Given the description of an element on the screen output the (x, y) to click on. 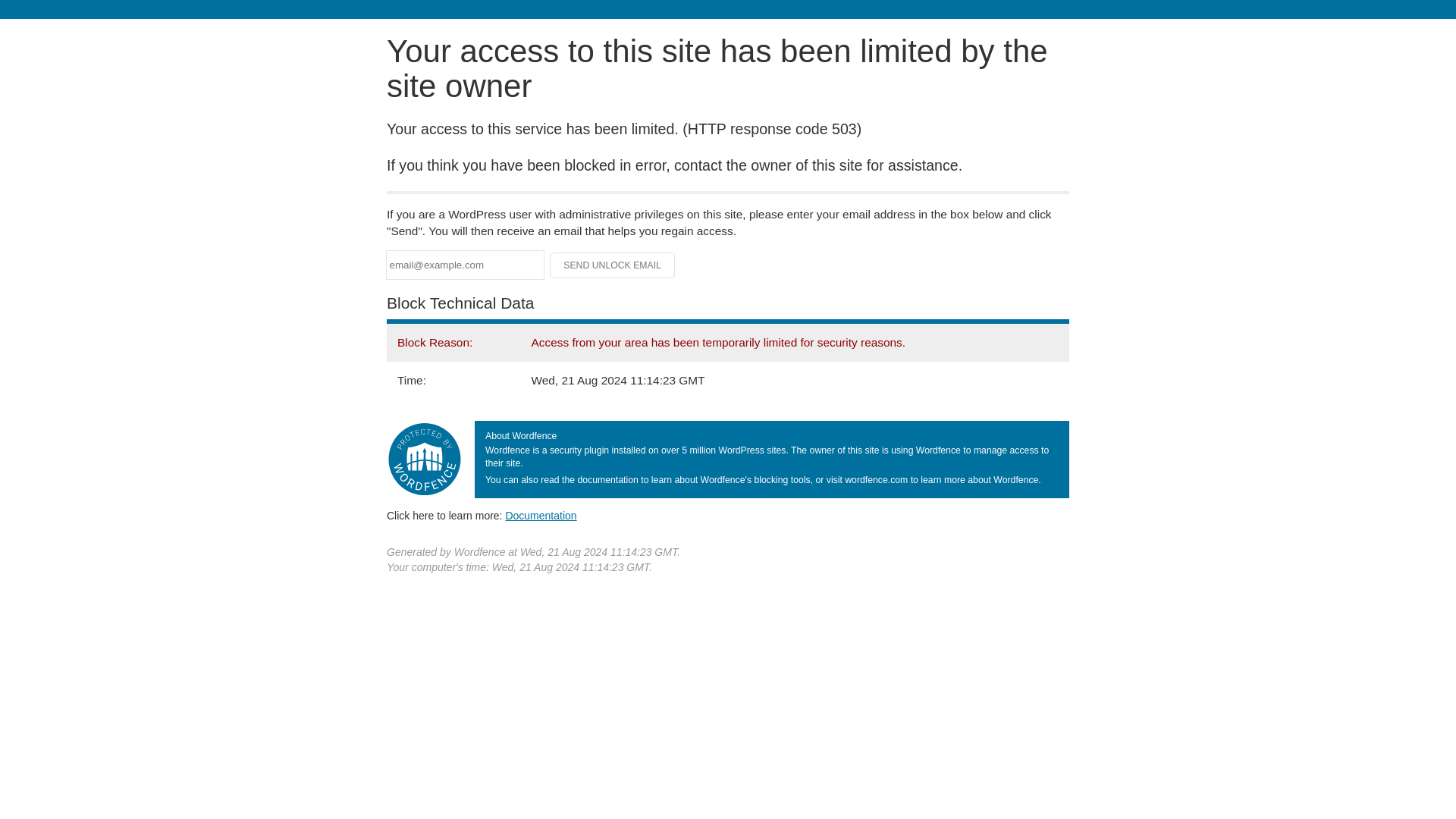
Documentation (540, 515)
Send Unlock Email (612, 265)
Send Unlock Email (612, 265)
